Given the description of an element on the screen output the (x, y) to click on. 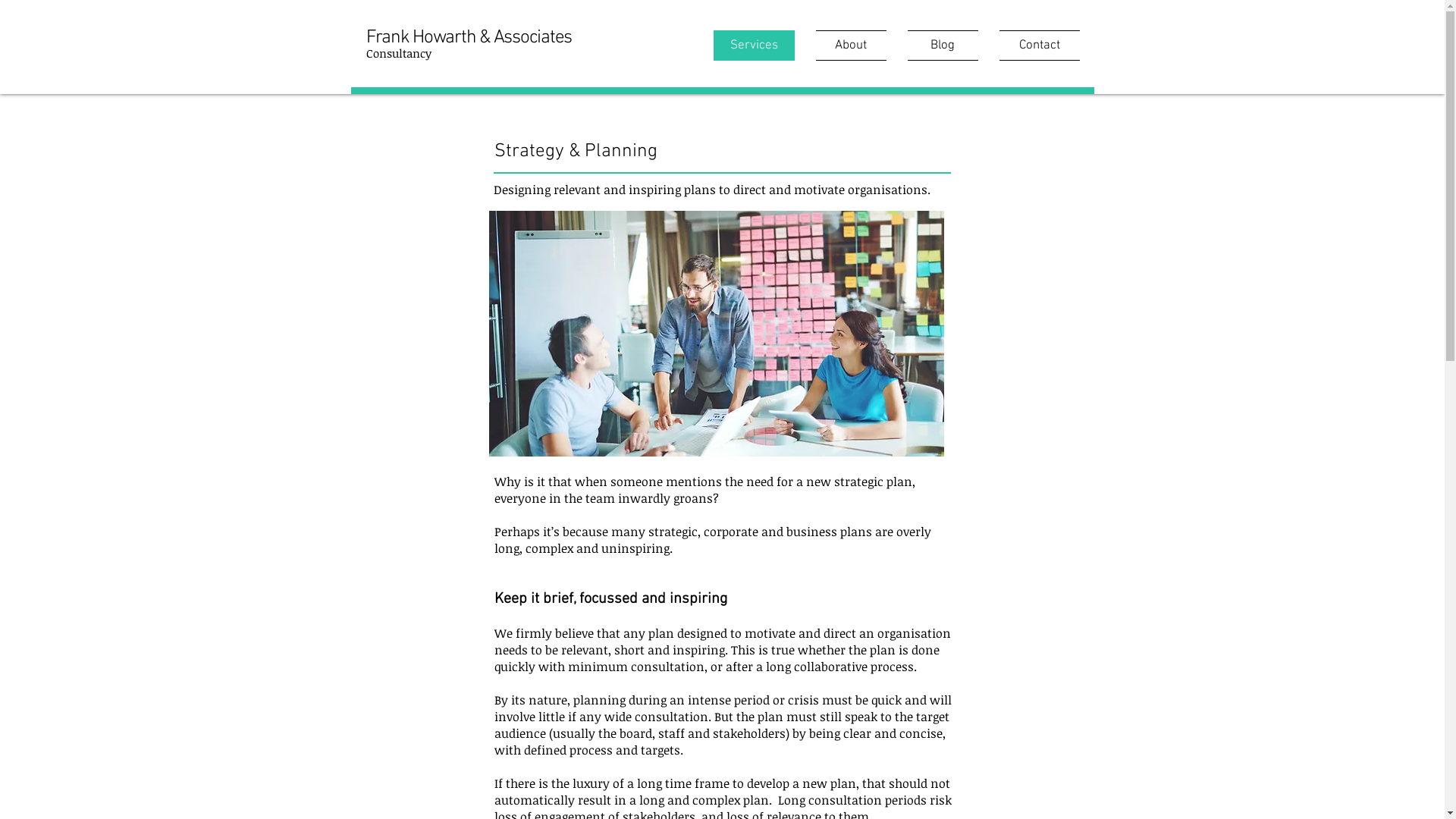
Frank Howarth & Associates Element type: text (468, 37)
Blog Element type: text (942, 45)
Contact Element type: text (1033, 45)
About Element type: text (851, 45)
Consultancy Element type: text (397, 52)
Services Element type: text (758, 45)
